Given the description of an element on the screen output the (x, y) to click on. 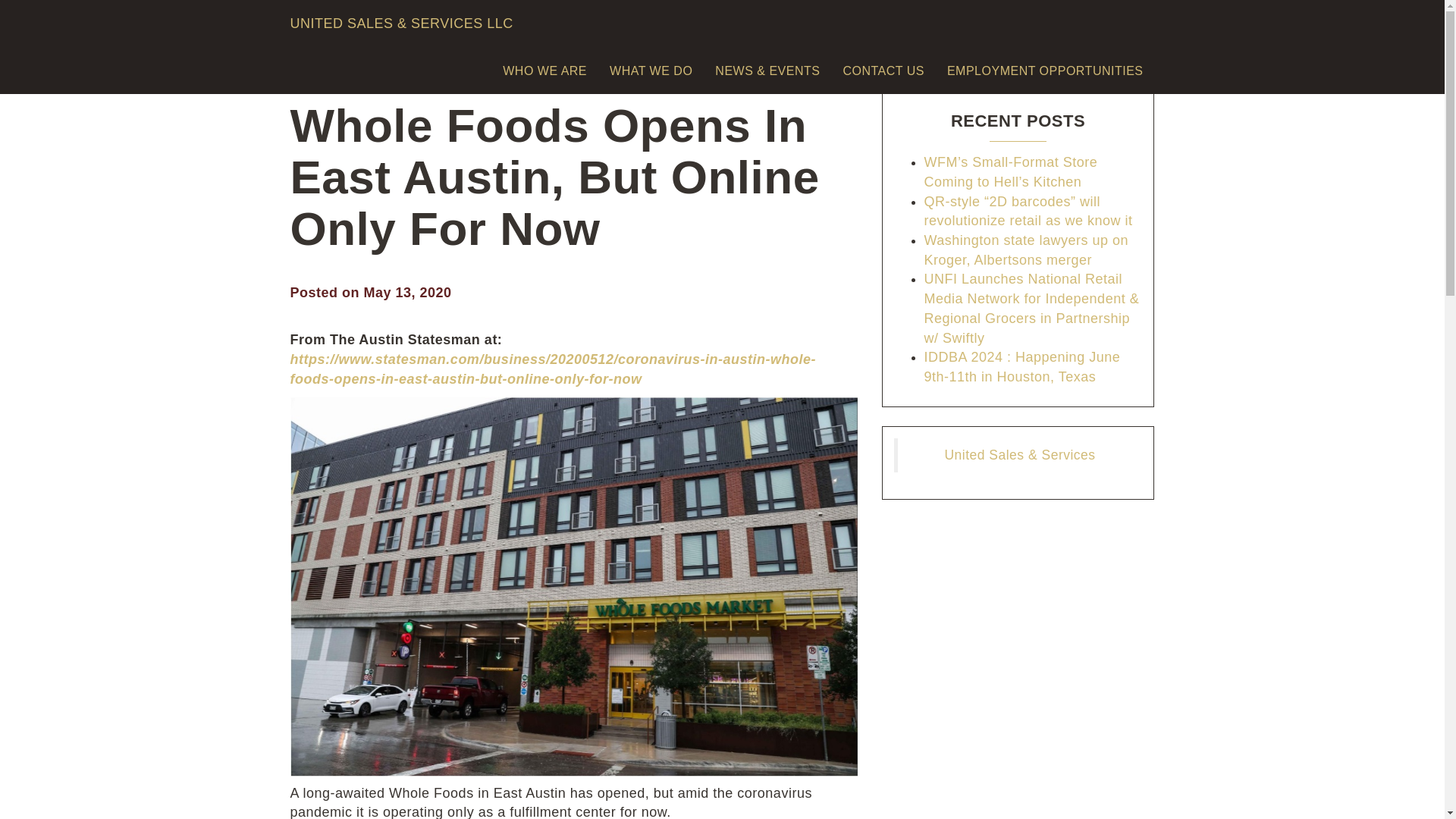
EMPLOYMENT OPPORTUNITIES (1045, 70)
Washington state lawyers up on Kroger, Albertsons merger (1024, 249)
CONTACT US (883, 70)
WHAT WE DO (650, 70)
Contact Us (883, 70)
WHO WE ARE (545, 70)
What We Do (650, 70)
Who We Are (545, 70)
IDDBA 2024 : Happening June 9th-11th in Houston, Texas (1021, 366)
Employment Opportunities (1045, 70)
